Given the description of an element on the screen output the (x, y) to click on. 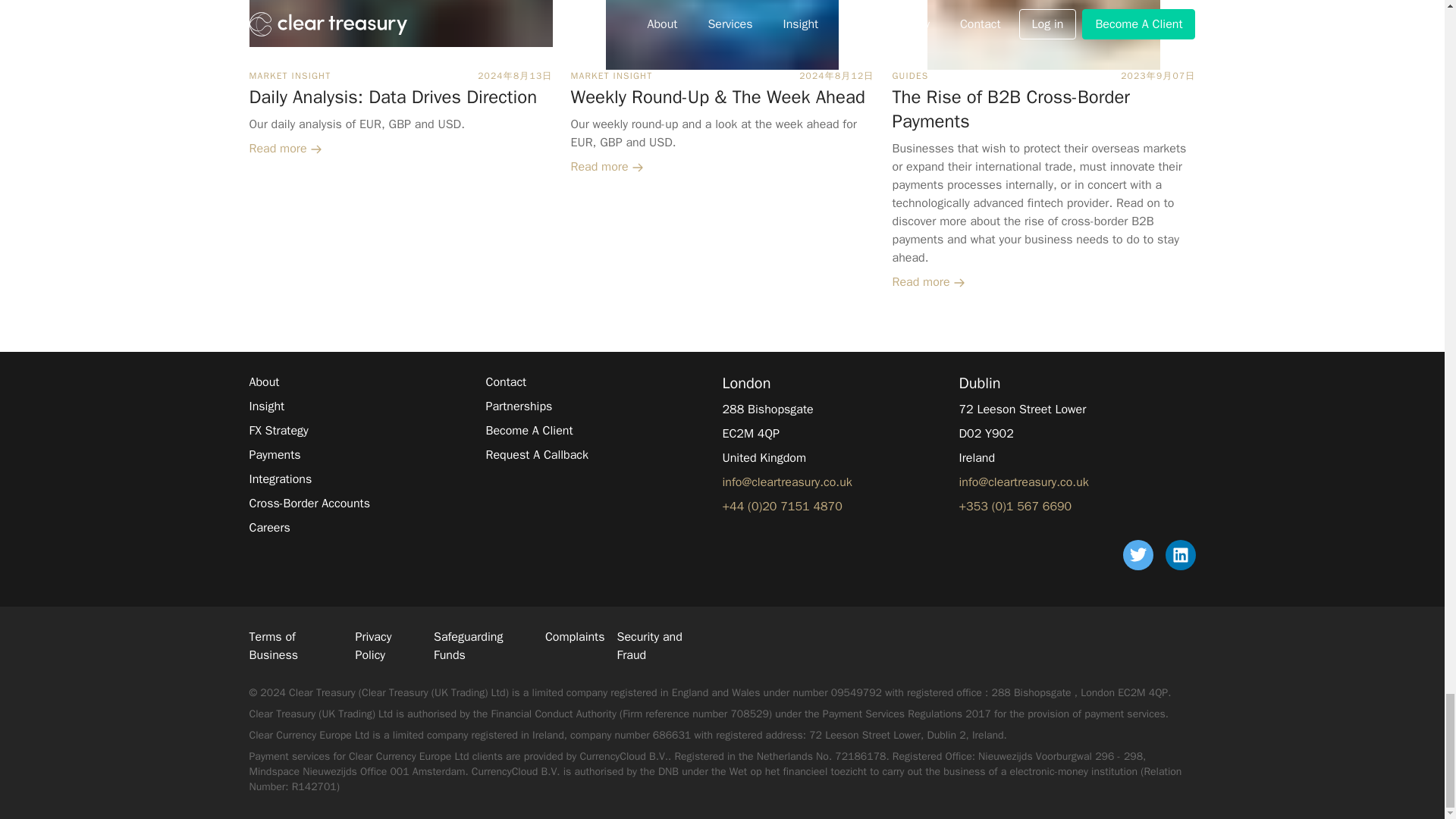
About (263, 381)
Integrations (279, 478)
FX Strategy (277, 430)
Careers (268, 527)
Insight (265, 406)
Cross-Border Accounts (308, 503)
Payments (273, 454)
